Given the description of an element on the screen output the (x, y) to click on. 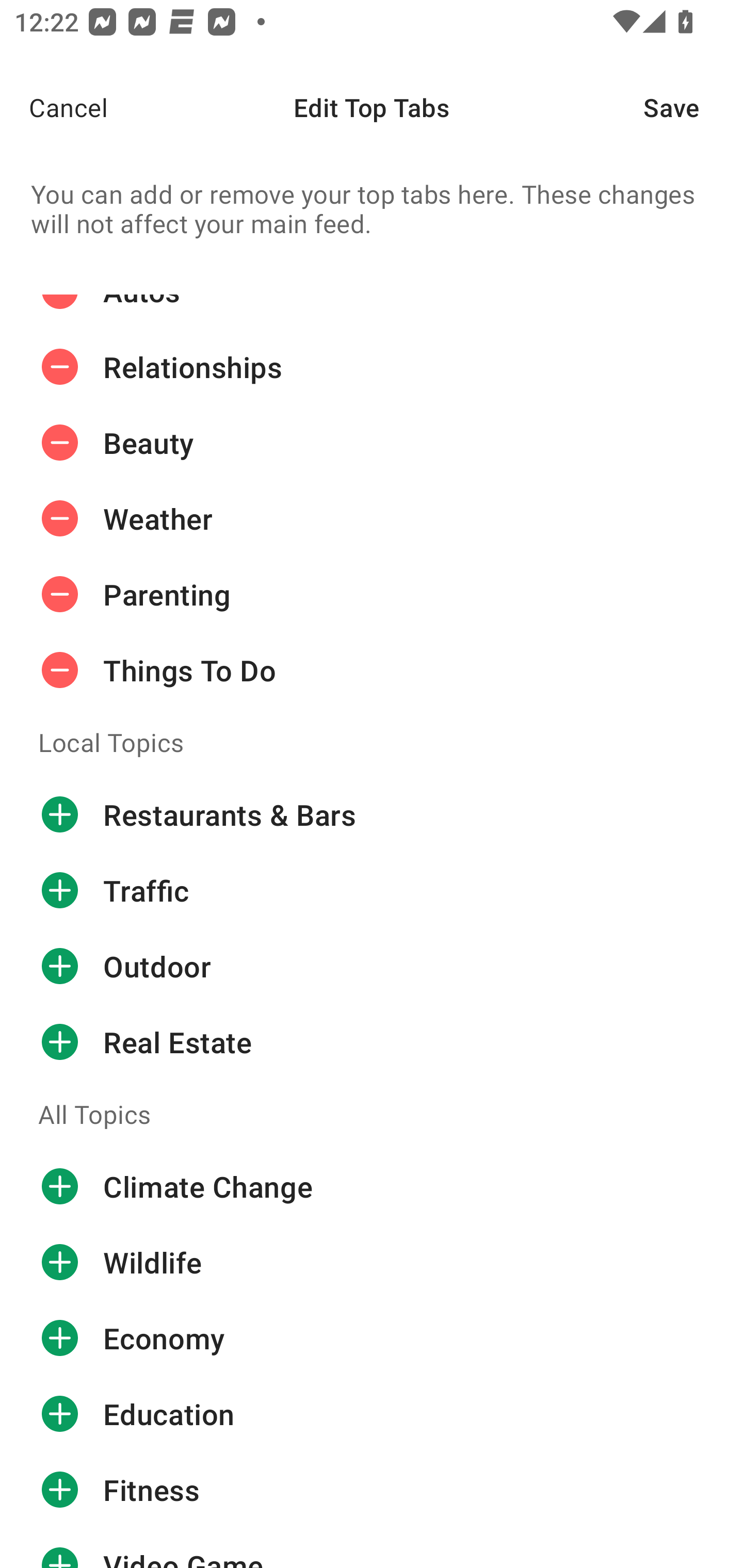
Cancel (53, 106)
Save (693, 106)
Autos (371, 311)
Relationships (371, 366)
Beauty (371, 442)
Weather (371, 518)
Parenting (371, 593)
Things To Do (371, 669)
Restaurants & Bars (371, 814)
Traffic (371, 890)
Outdoor (371, 965)
Real Estate (371, 1041)
Climate Change (371, 1186)
Wildlife (371, 1261)
Economy (371, 1337)
Education (371, 1413)
Fitness (371, 1489)
